Given the description of an element on the screen output the (x, y) to click on. 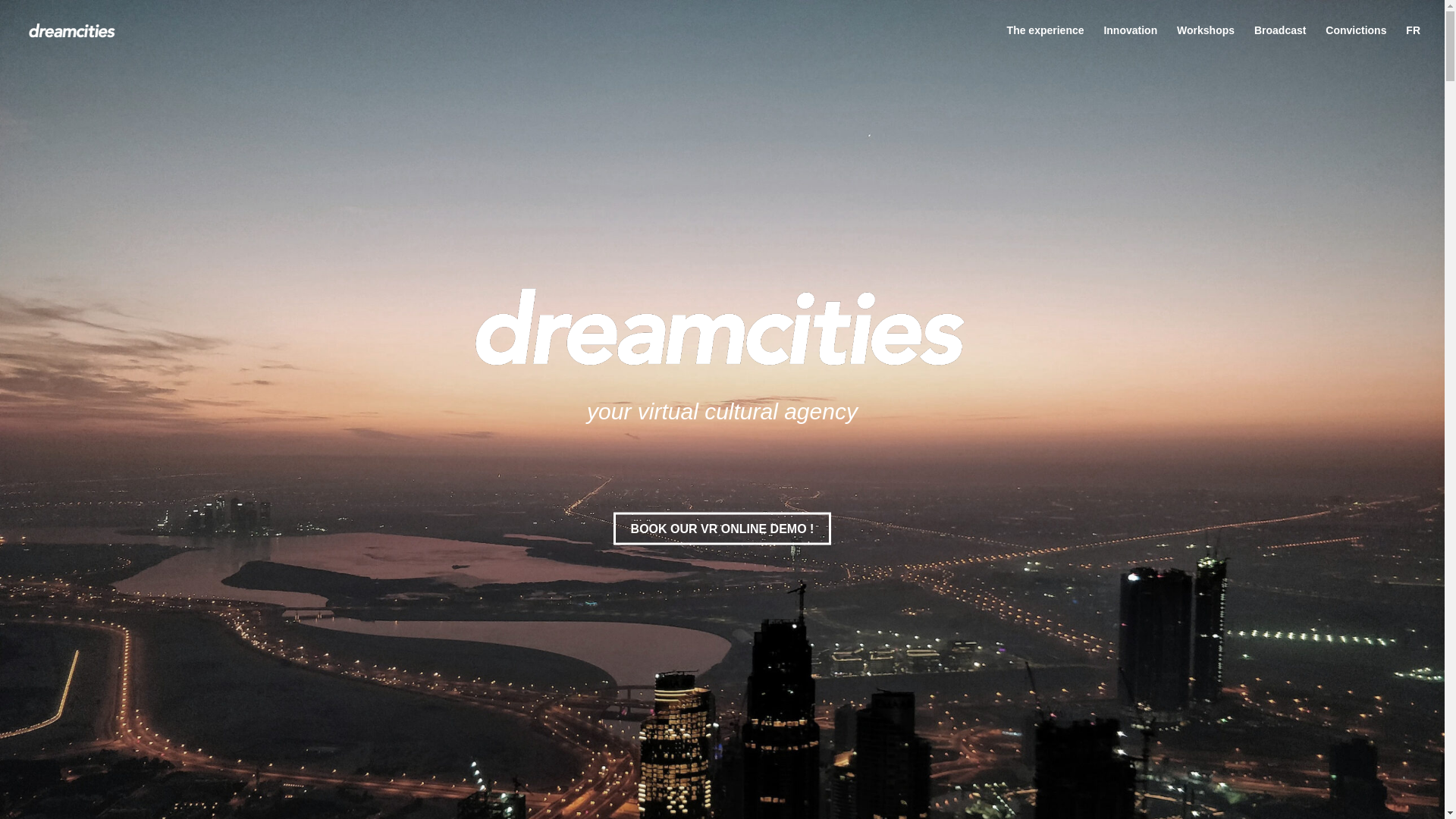
Convictions (1355, 42)
Innovation (1130, 42)
BOOK OUR VR ONLINE DEMO ! (721, 528)
Workshops (1205, 42)
The experience (1045, 42)
Broadcast (1279, 42)
